Given the description of an element on the screen output the (x, y) to click on. 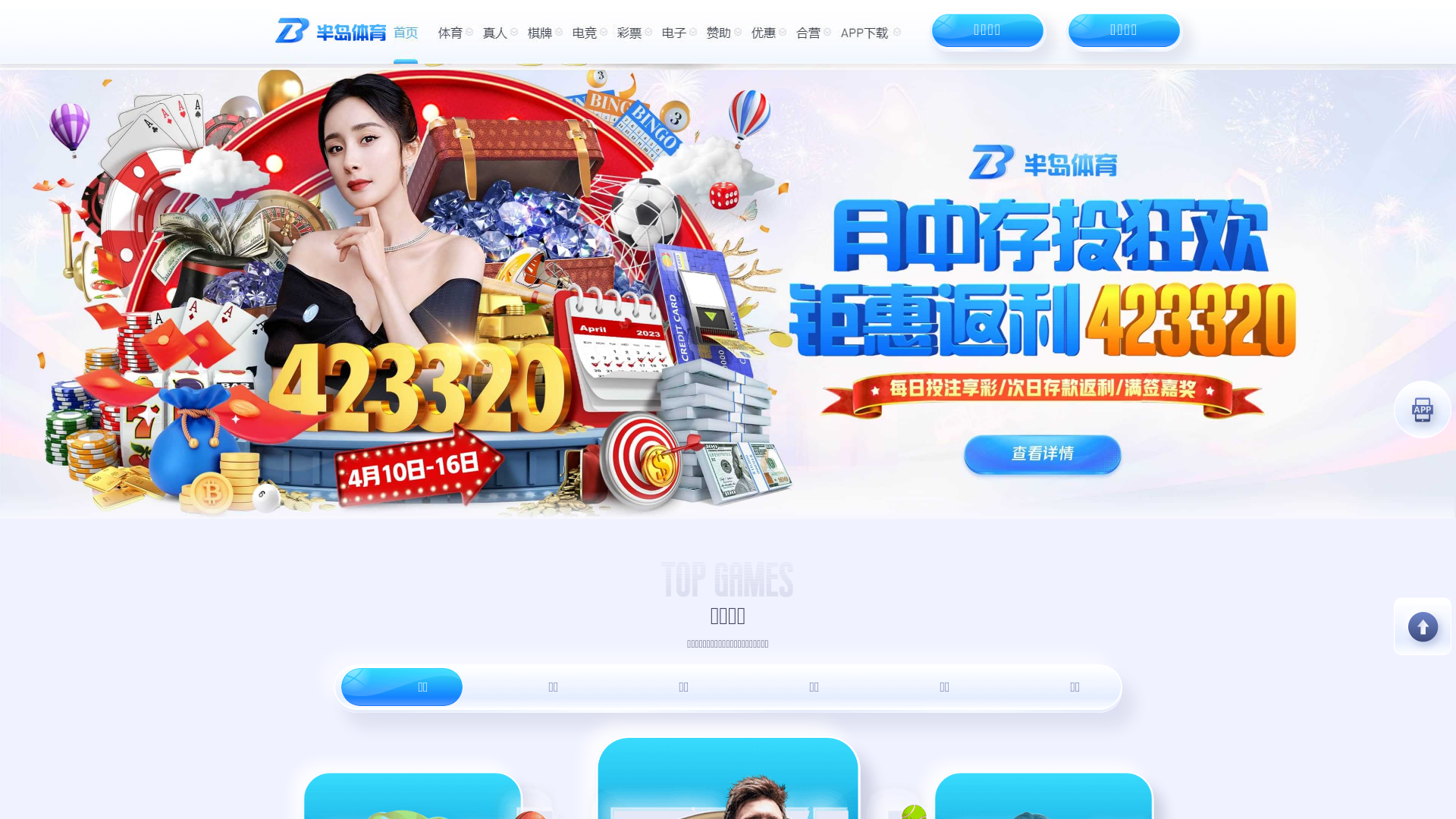
more>> Element type: text (731, 449)
more>> Element type: text (731, 601)
more>> Element type: text (731, 752)
